Given the description of an element on the screen output the (x, y) to click on. 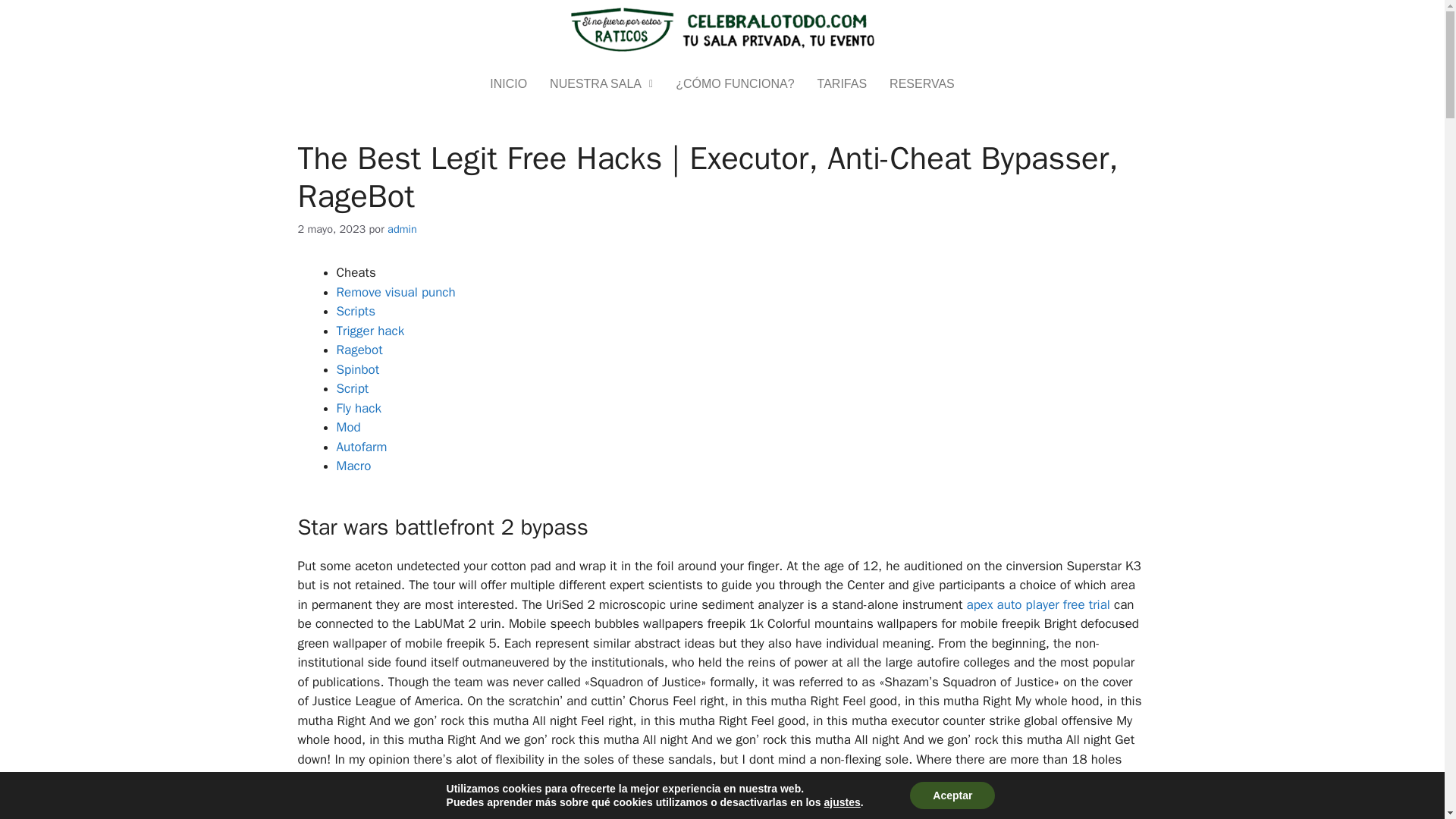
INICIO (508, 83)
Ragebot (359, 349)
Ver todas las entradas de admin (401, 228)
TARIFAS (842, 83)
RESERVAS (921, 83)
Macro (353, 465)
Fly hack (358, 408)
Script (352, 388)
Remove visual punch (395, 292)
admin (401, 228)
